Given the description of an element on the screen output the (x, y) to click on. 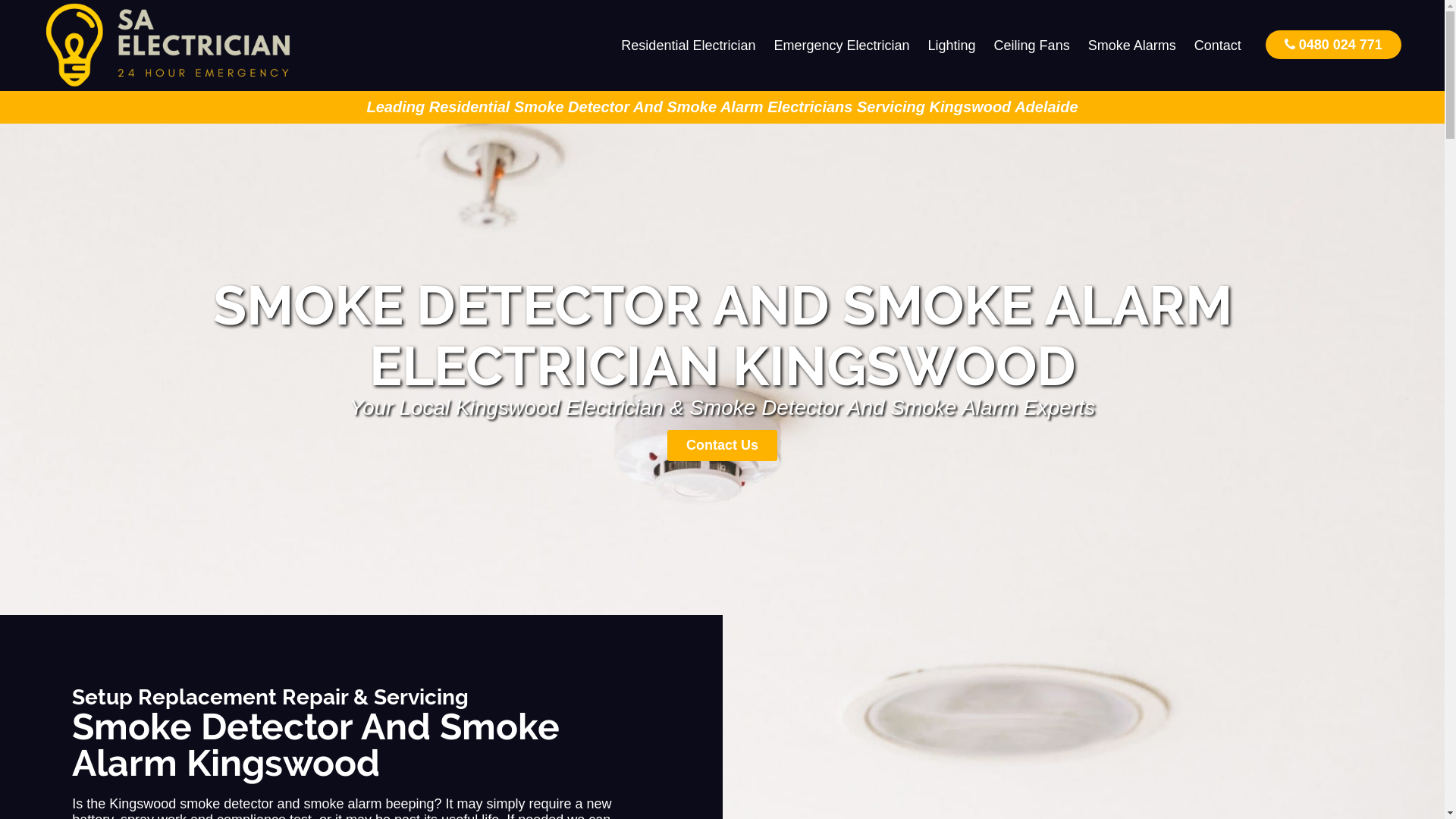
Emergency Electrician Element type: text (841, 45)
Ceiling Fans Element type: text (1032, 45)
Contact Us Element type: text (722, 445)
Lighting Element type: text (952, 45)
Smoke Alarms Element type: text (1132, 45)
Residential Electrician Element type: text (687, 45)
Contact Element type: text (1217, 45)
0480 024 771 Element type: text (1333, 44)
